Given the description of an element on the screen output the (x, y) to click on. 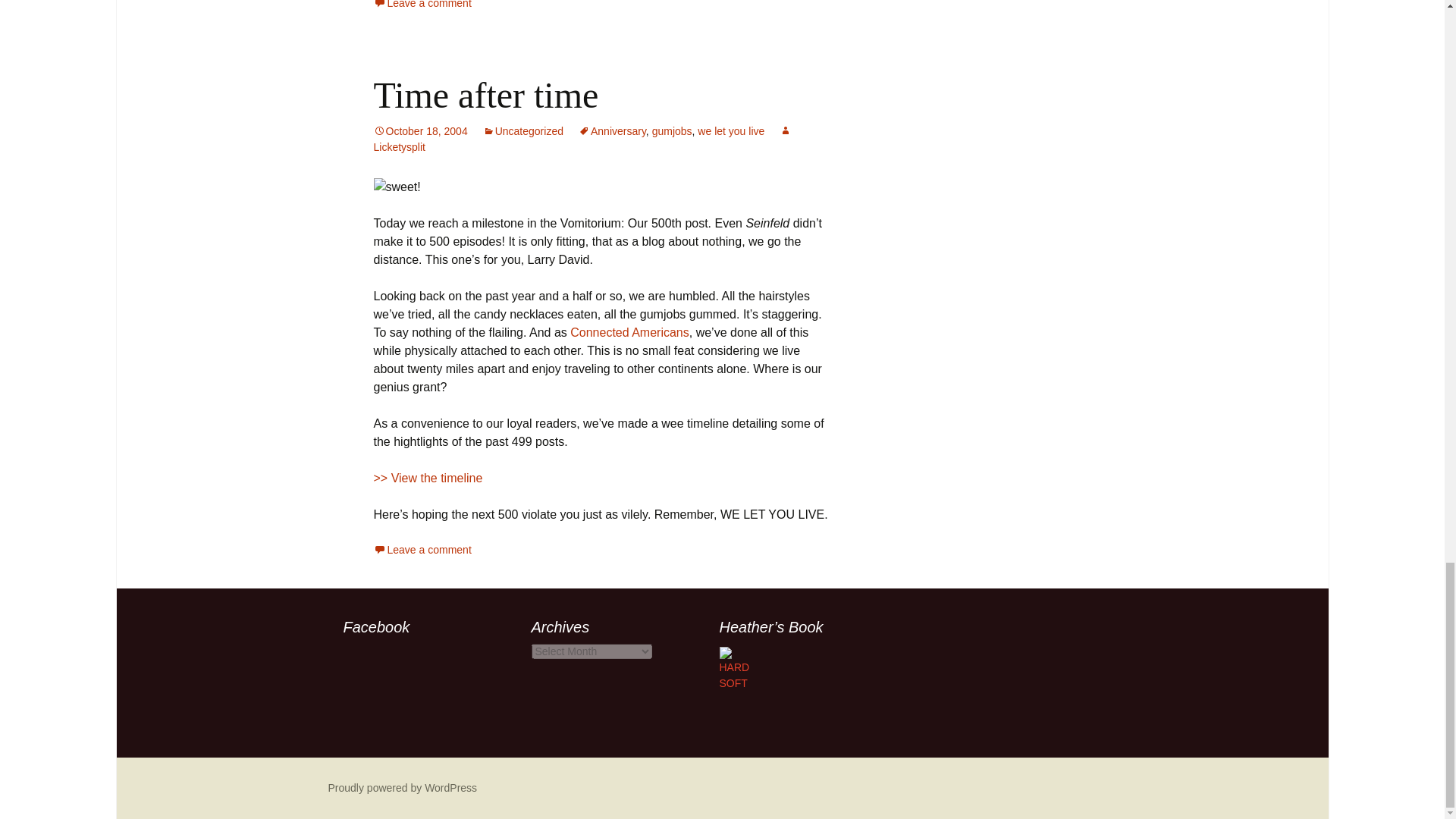
October 18, 2004 (419, 131)
Uncategorized (523, 131)
View all posts by Licketysplit (582, 139)
Permalink to Time after time (419, 131)
Leave a comment (421, 4)
gumjobs (672, 131)
Anniversary (612, 131)
Time after time (485, 95)
